Given the description of an element on the screen output the (x, y) to click on. 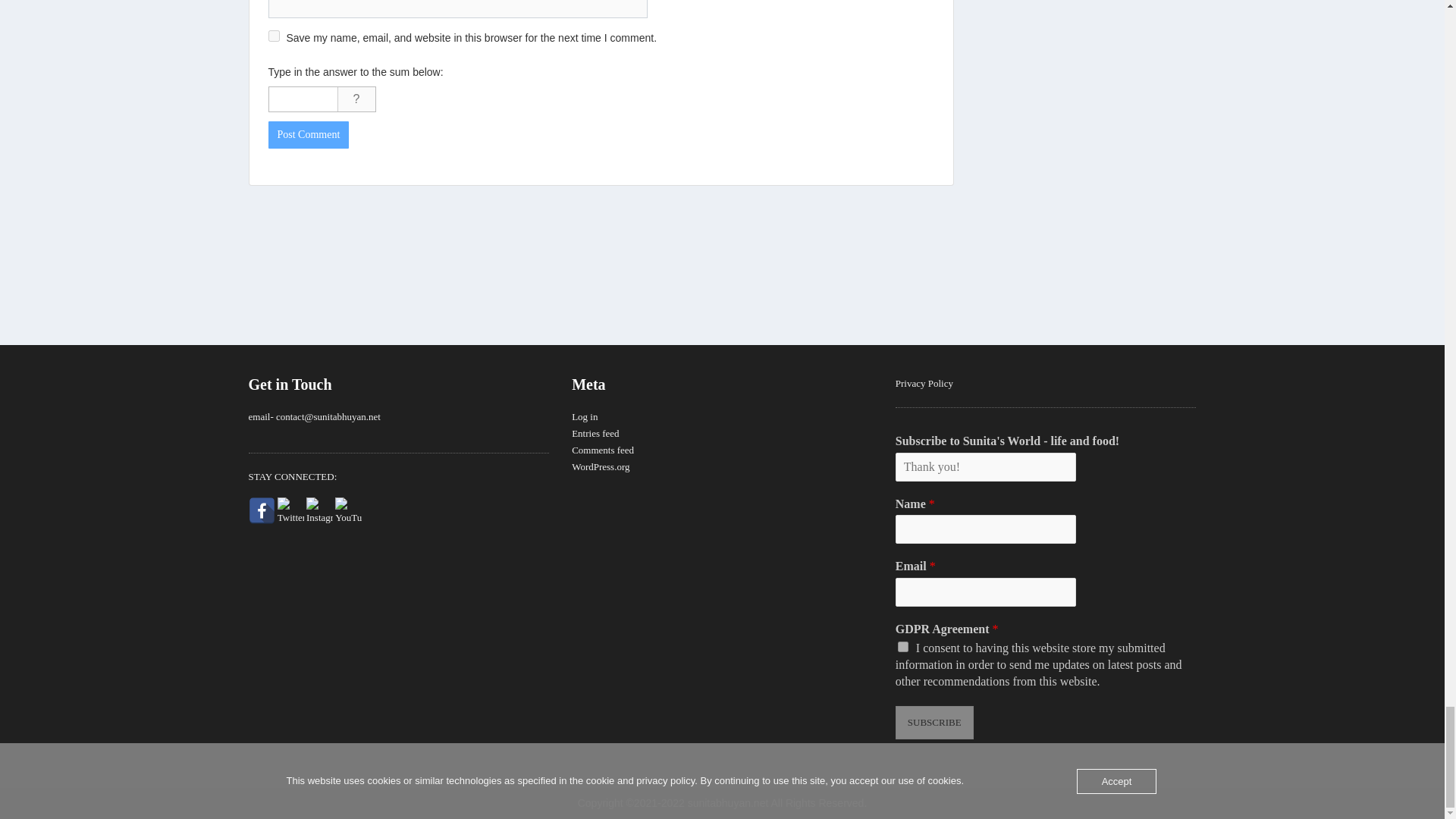
yes (273, 35)
Post Comment (308, 134)
